Given the description of an element on the screen output the (x, y) to click on. 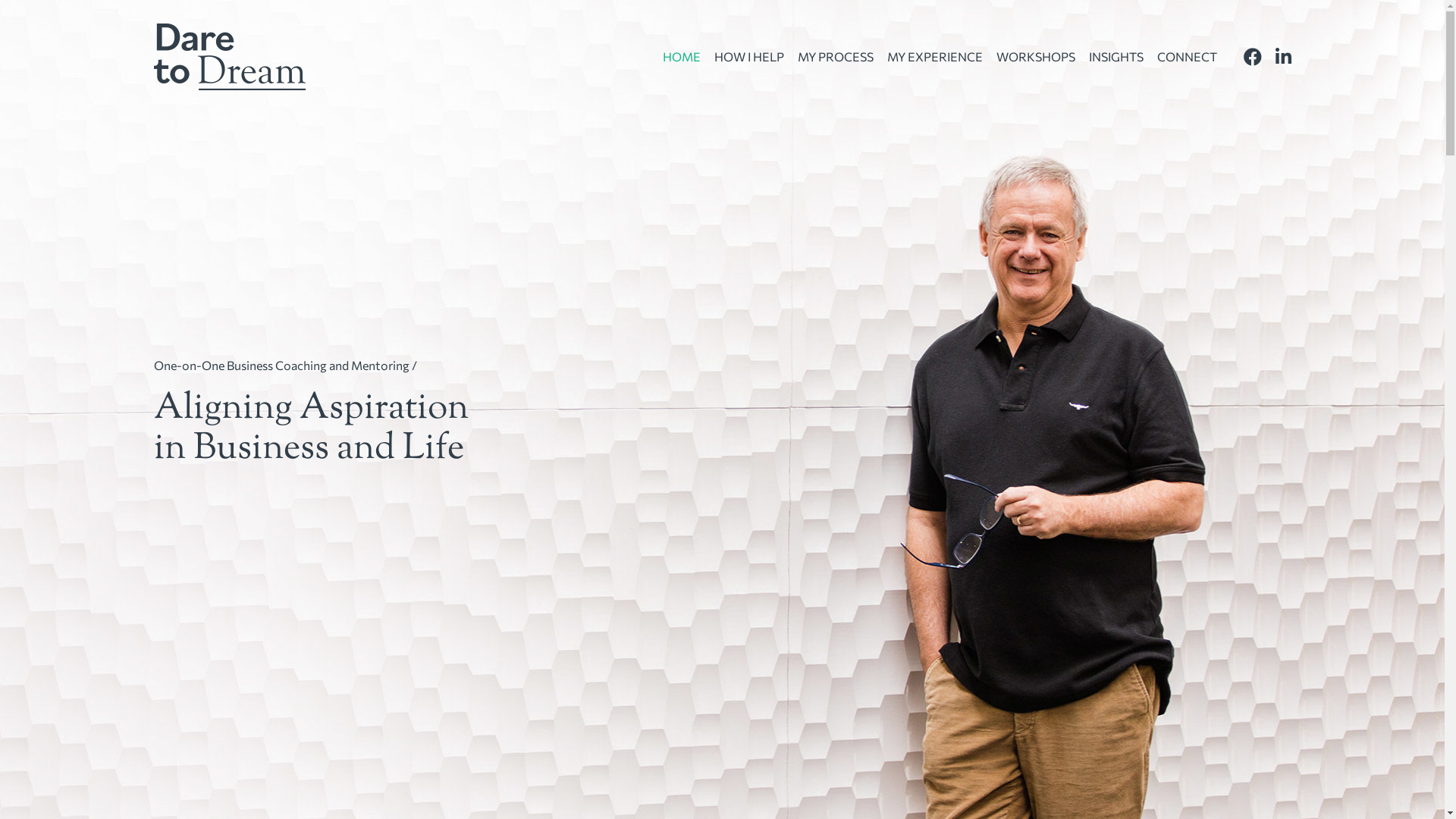
HOW I HELP Element type: text (749, 56)
CONNECT Element type: text (1187, 56)
MY PROCESS Element type: text (835, 56)
HOME Element type: text (681, 56)
INSIGHTS Element type: text (1115, 56)
MY EXPERIENCE Element type: text (934, 56)
WORKSHOPS Element type: text (1035, 56)
